Given the description of an element on the screen output the (x, y) to click on. 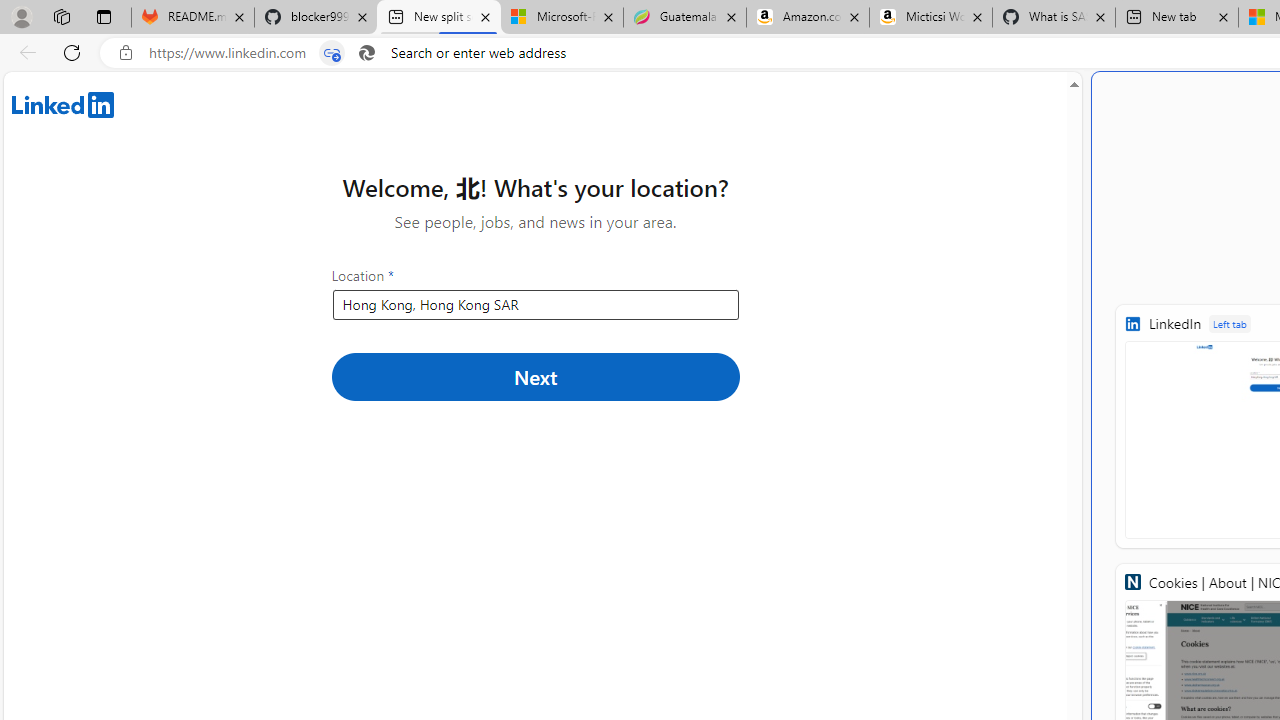
Tabs in split screen (331, 53)
Search icon (366, 53)
